Given the description of an element on the screen output the (x, y) to click on. 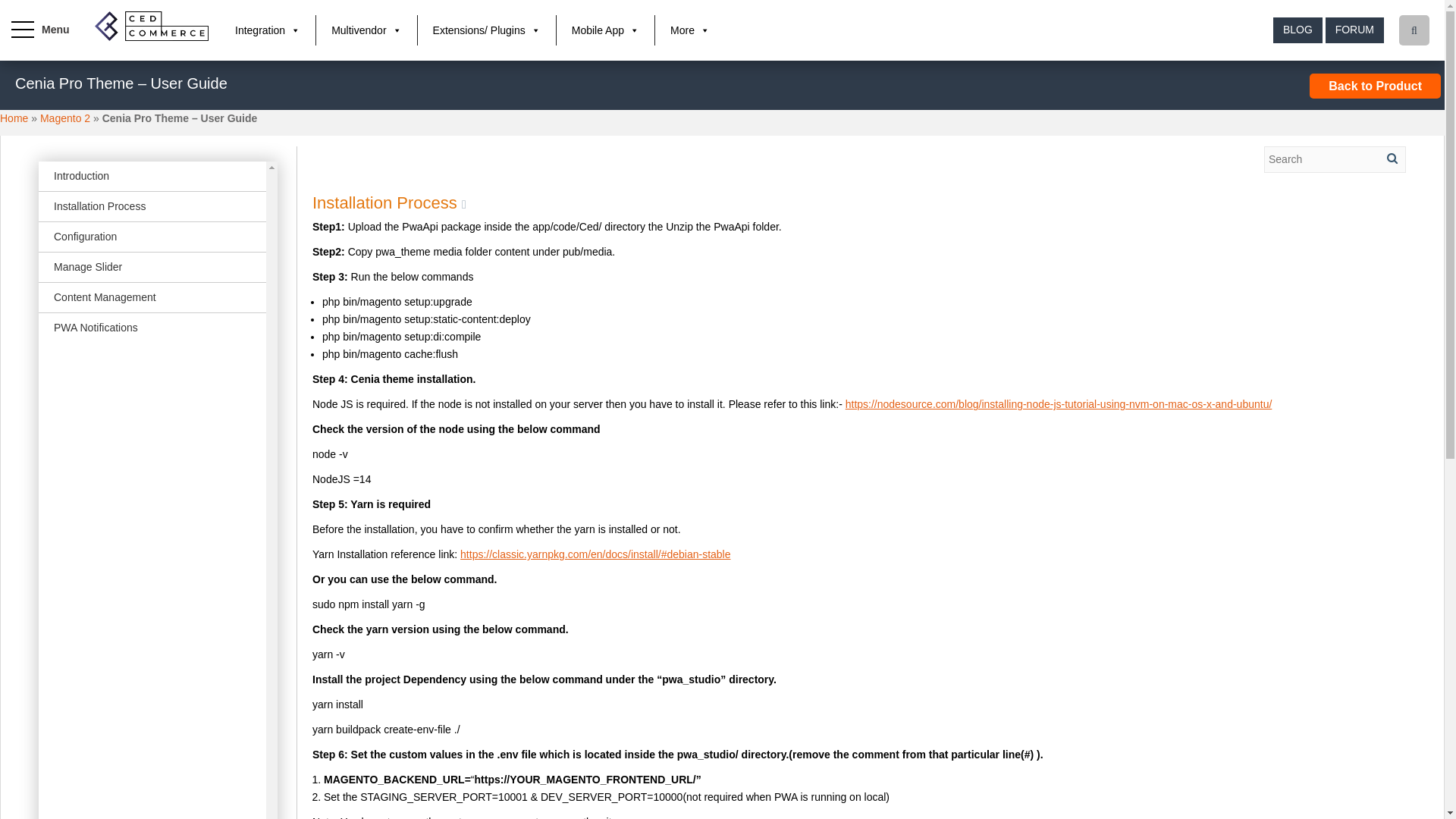
Integration (267, 30)
More (690, 30)
FORUM (1354, 30)
BLOG (1297, 30)
Multivendor (365, 30)
Mobile App (604, 30)
